Given the description of an element on the screen output the (x, y) to click on. 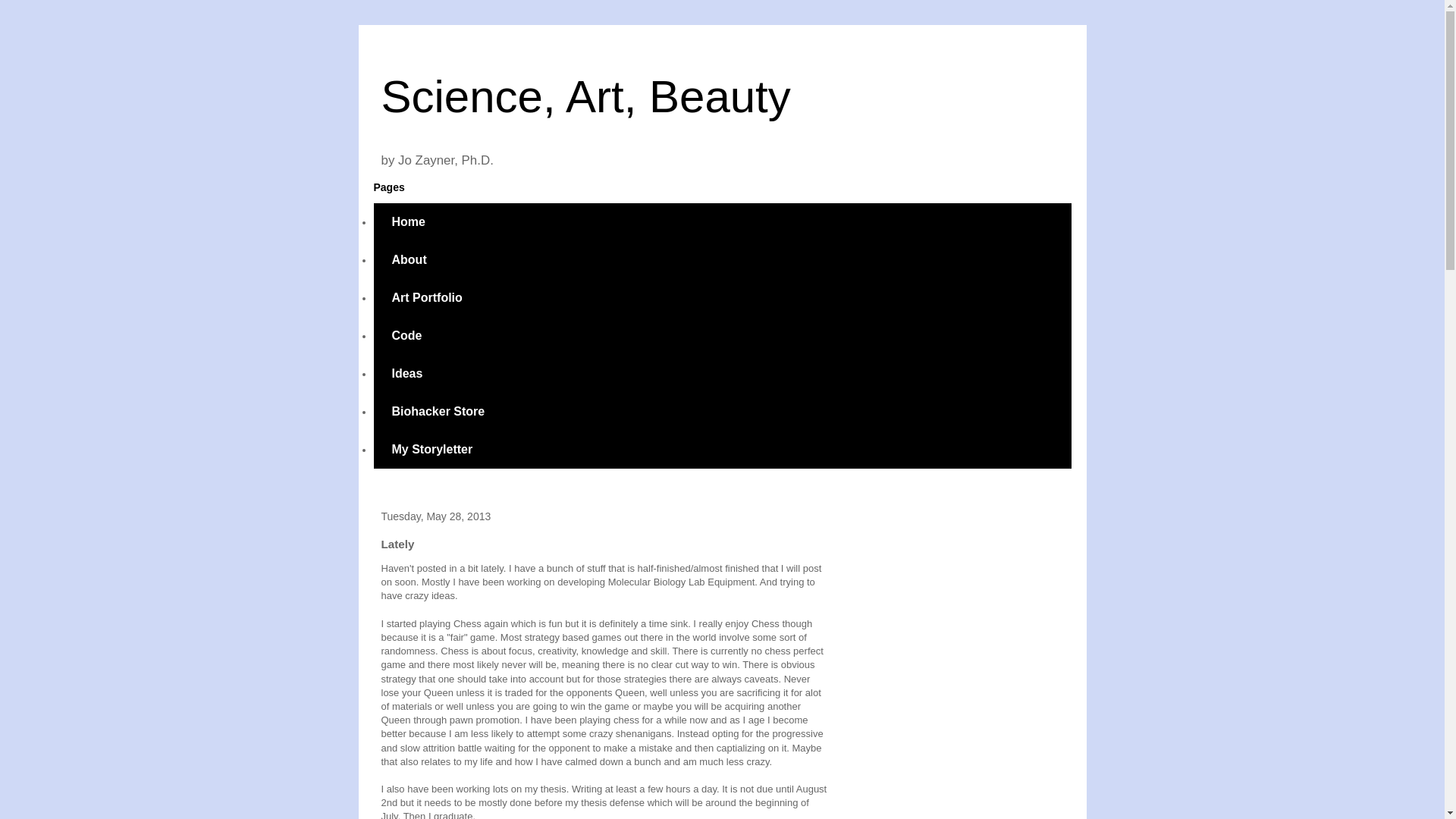
My Storyletter (431, 449)
Art Portfolio (426, 297)
Ideas (406, 373)
Biohacker Store (437, 411)
About (408, 259)
Science, Art, Beauty (585, 96)
Code (405, 335)
Home (407, 221)
